Given the description of an element on the screen output the (x, y) to click on. 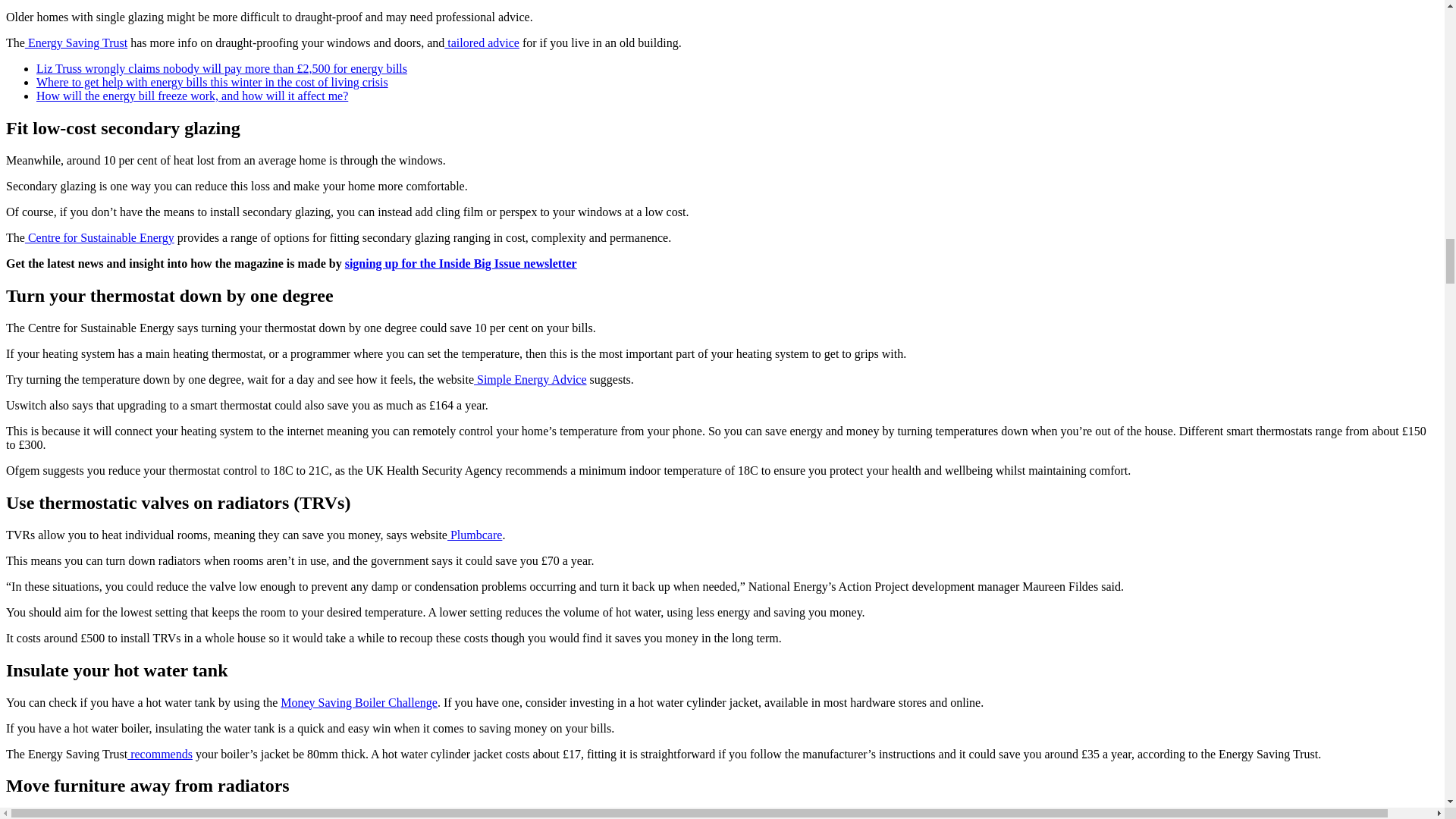
Money Saving Boiler Challenge (359, 702)
Plumbcare (474, 534)
recommends (160, 753)
Energy Saving Trust (76, 42)
signing up for the Inside Big Issue newsletter (460, 263)
Simple Energy Advice (530, 379)
tailored advice (481, 42)
Centre for Sustainable Energy (99, 237)
